Given the description of an element on the screen output the (x, y) to click on. 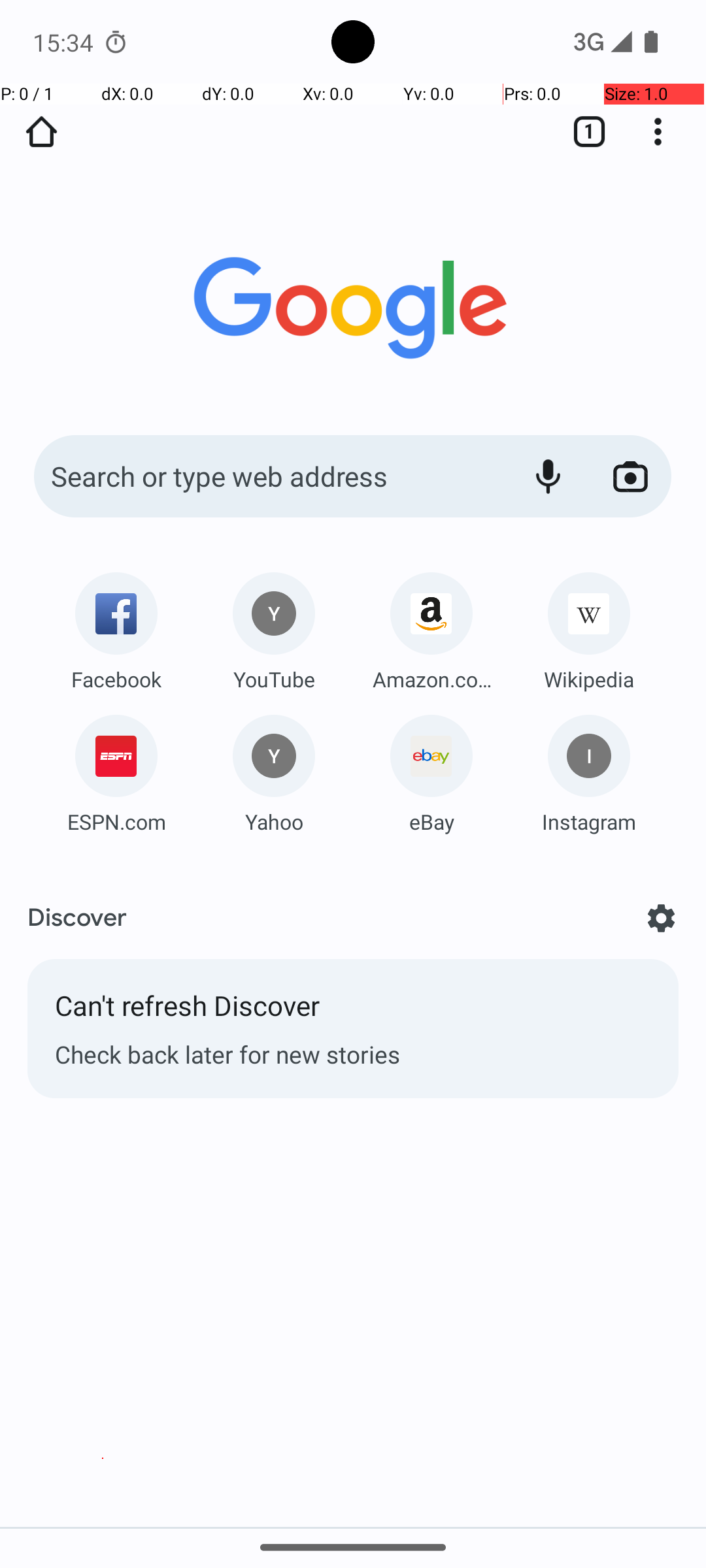
Can't refresh Discover Element type: android.widget.TextView (352, 1011)
Check back later for new stories Element type: android.widget.TextView (352, 1053)
